Given the description of an element on the screen output the (x, y) to click on. 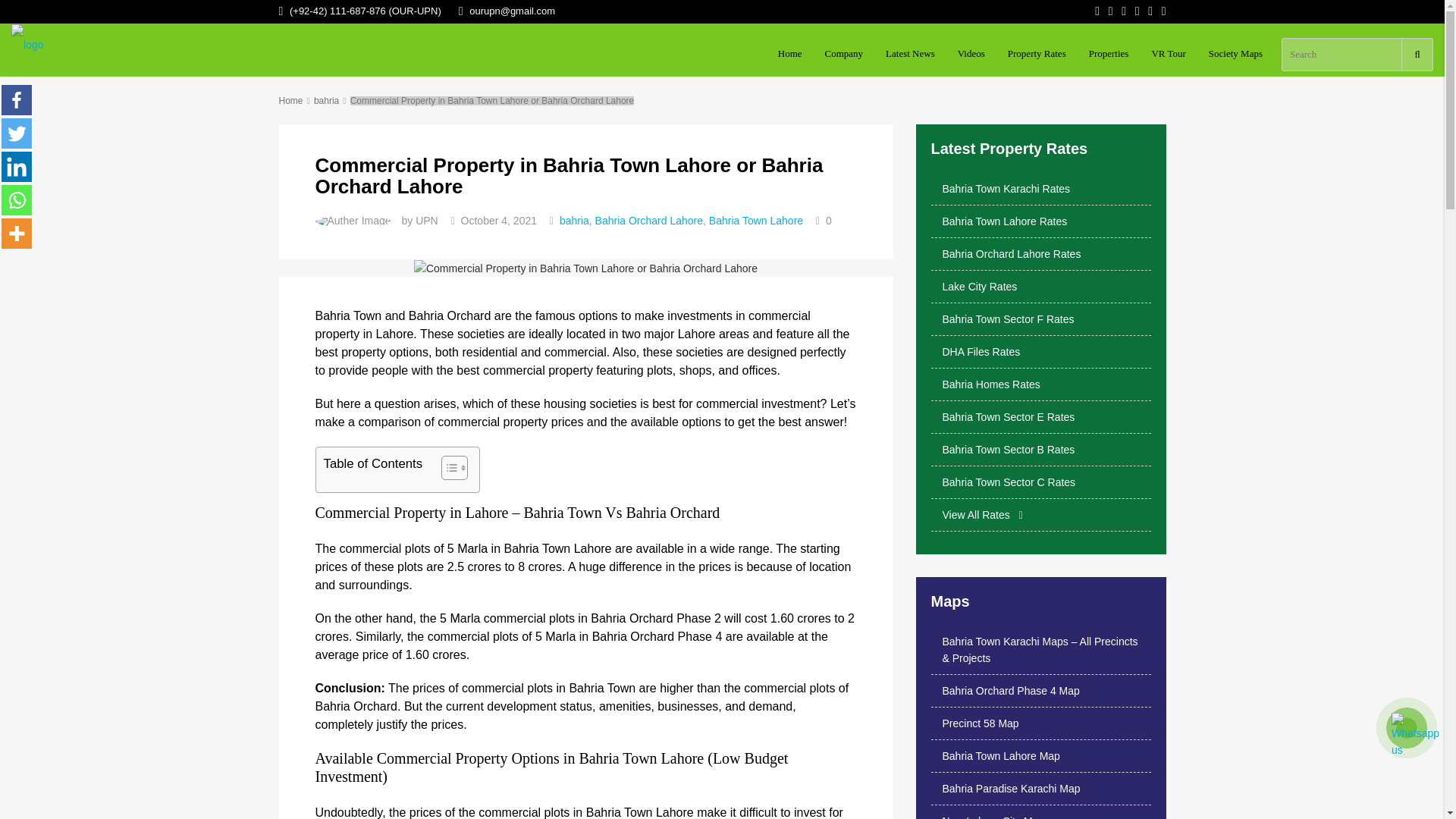
Company (844, 53)
Videos (970, 53)
More (16, 233)
Latest News (910, 53)
Linkedin (16, 166)
Facebook (16, 100)
Twitter (16, 132)
Home (790, 53)
Properties (1108, 53)
Whatsapp (16, 200)
